Given the description of an element on the screen output the (x, y) to click on. 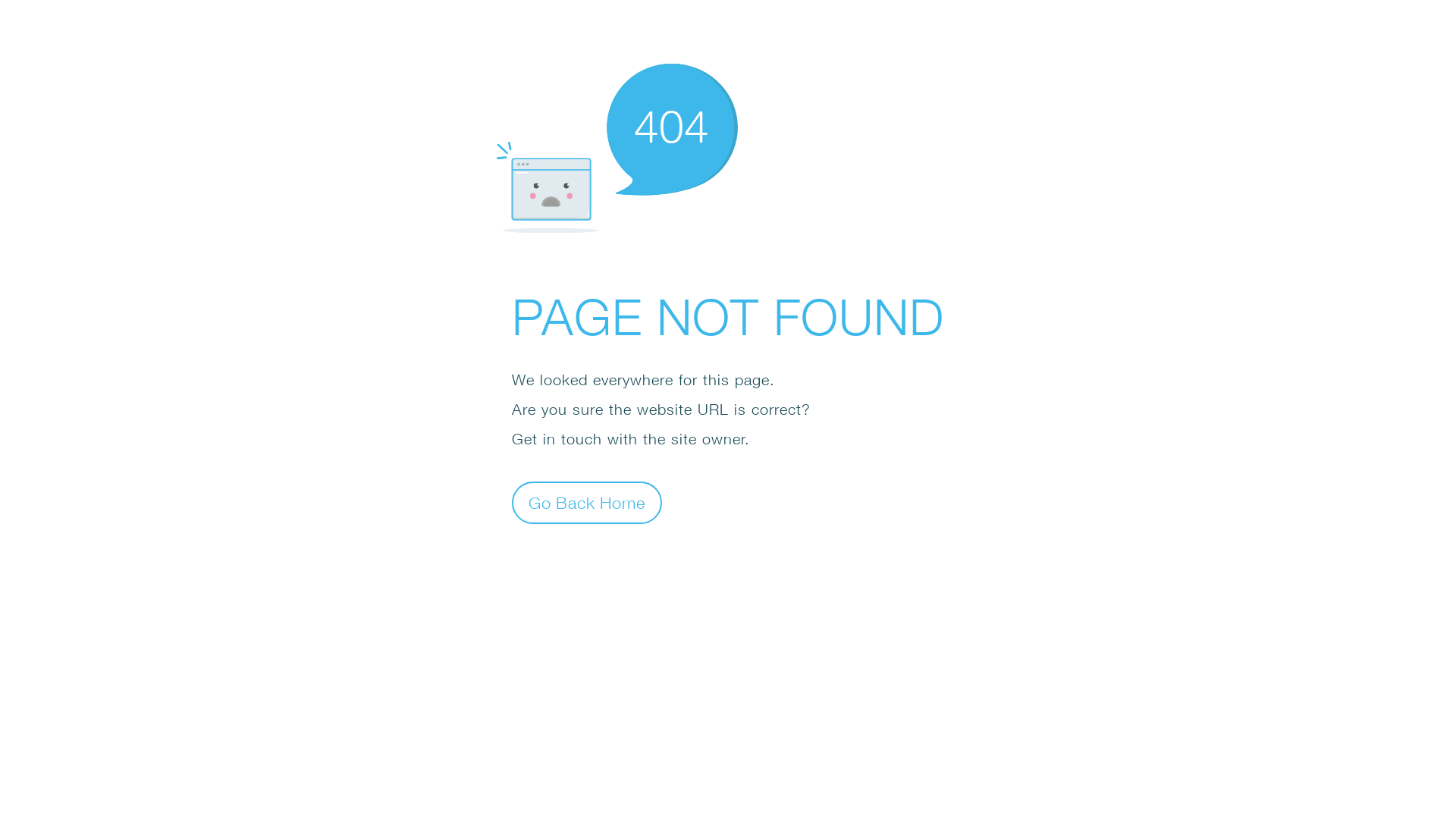
Go Back Home Element type: text (586, 502)
